Given the description of an element on the screen output the (x, y) to click on. 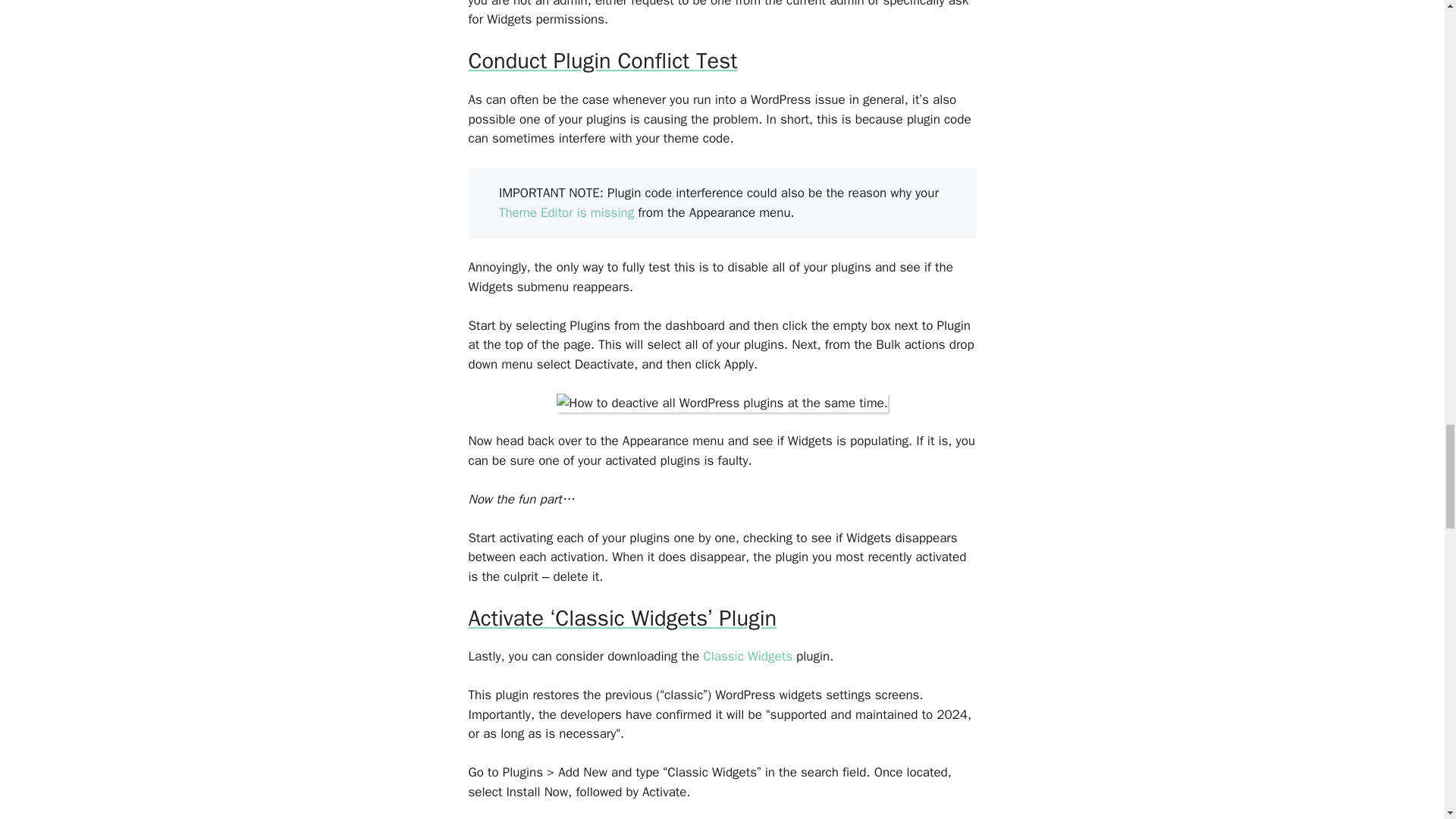
Theme Editor is missing (566, 212)
Classic Widgets (747, 656)
